Given the description of an element on the screen output the (x, y) to click on. 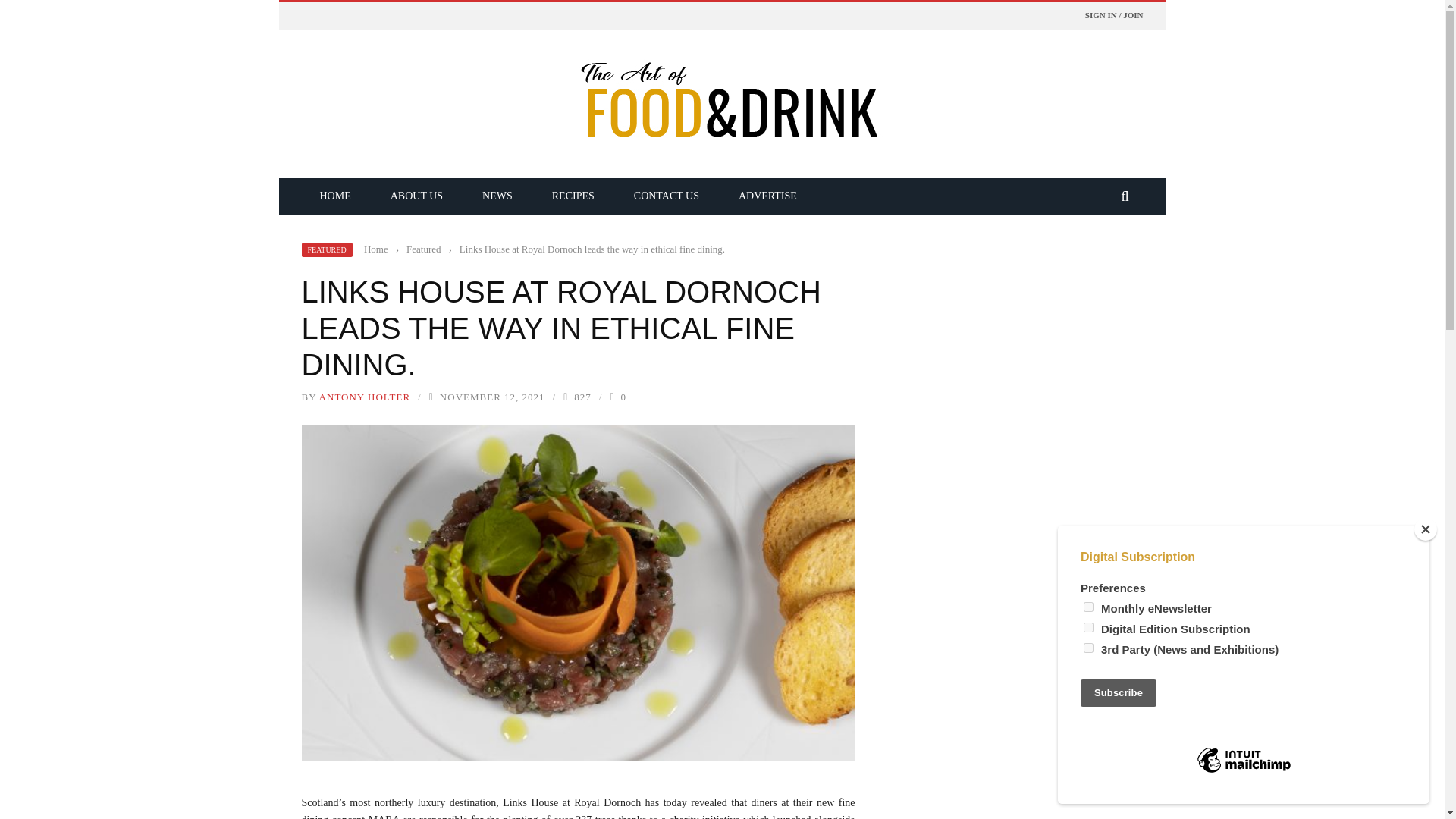
RECIPES (573, 195)
Home (376, 248)
HOME (335, 195)
Featured (423, 248)
NEWS (497, 195)
CONTACT US (666, 195)
FEATURED (326, 249)
ADVERTISE (767, 195)
ANTONY HOLTER (364, 396)
ABOUT US (416, 195)
